Given the description of an element on the screen output the (x, y) to click on. 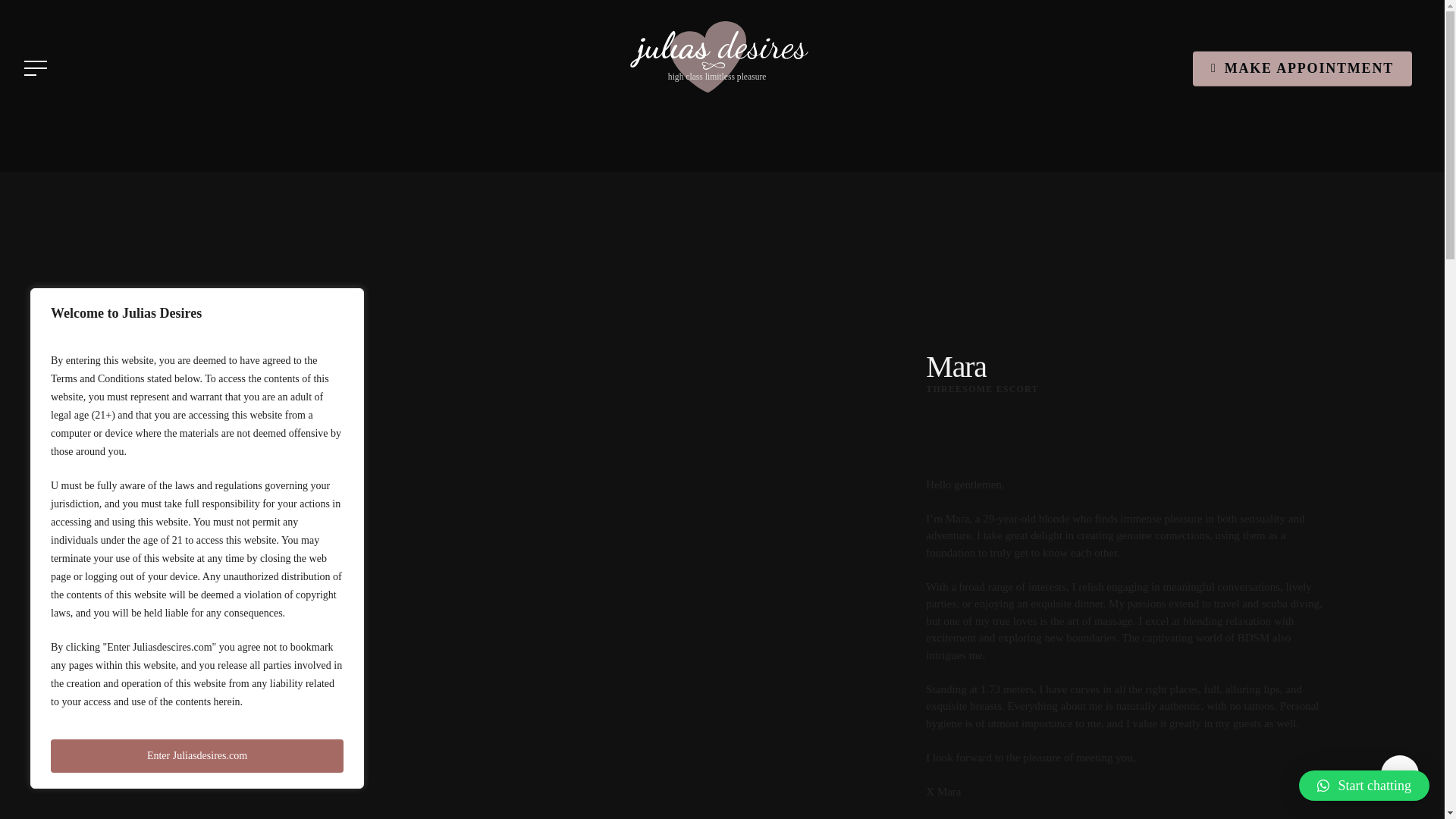
Menu (33, 68)
Enter Juliasdesires.com (196, 756)
MAKE APPOINTMENT (1302, 68)
